Given the description of an element on the screen output the (x, y) to click on. 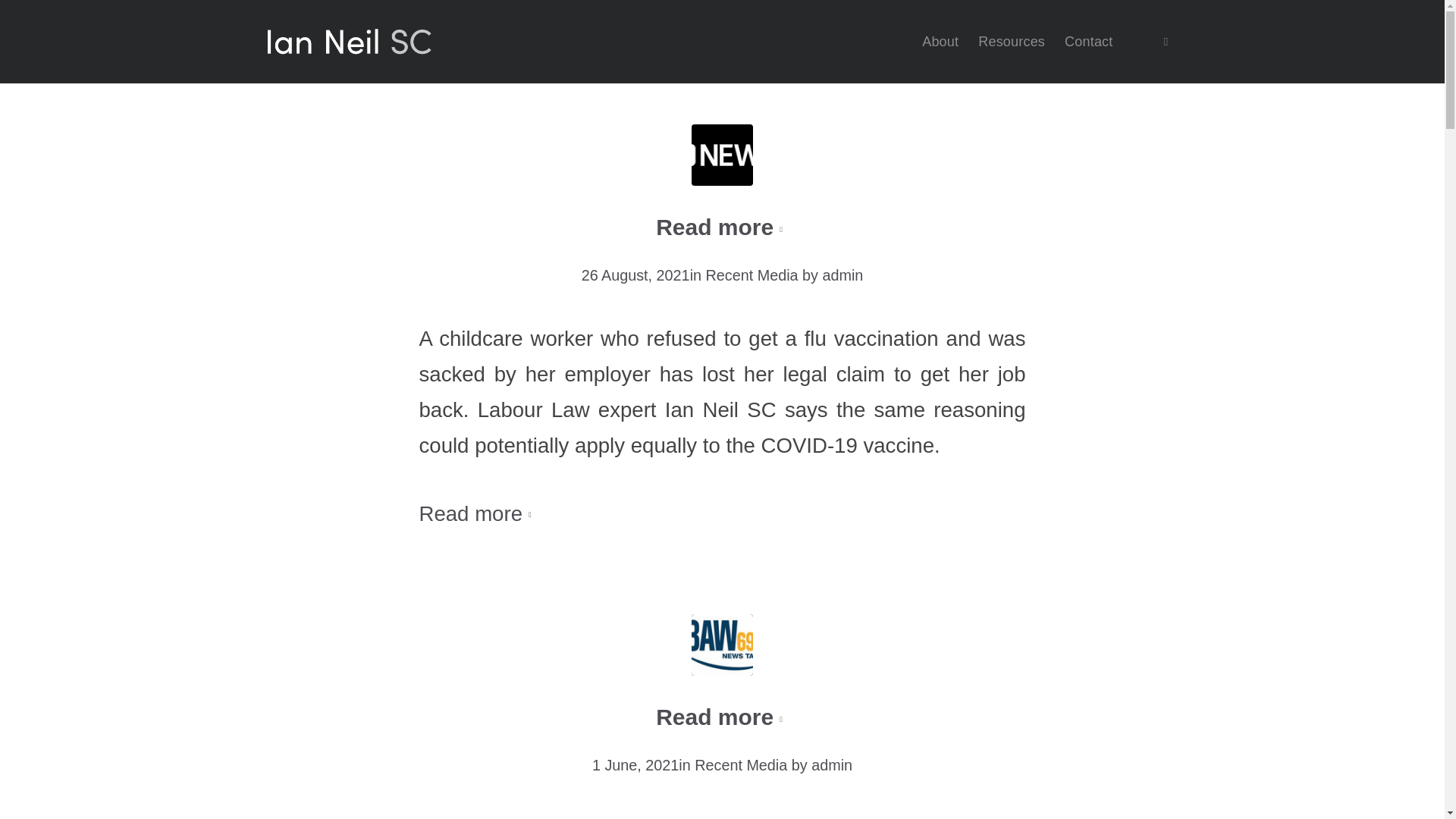
admin (842, 274)
INSC-header-logo-rev (348, 41)
Posts by admin (842, 274)
Posts by admin (830, 764)
POST-ABC-news (721, 154)
POST-3aw (721, 644)
LinkedIn (1165, 40)
Recent Media (740, 764)
Resources (1011, 41)
Recent Media (751, 274)
